Given the description of an element on the screen output the (x, y) to click on. 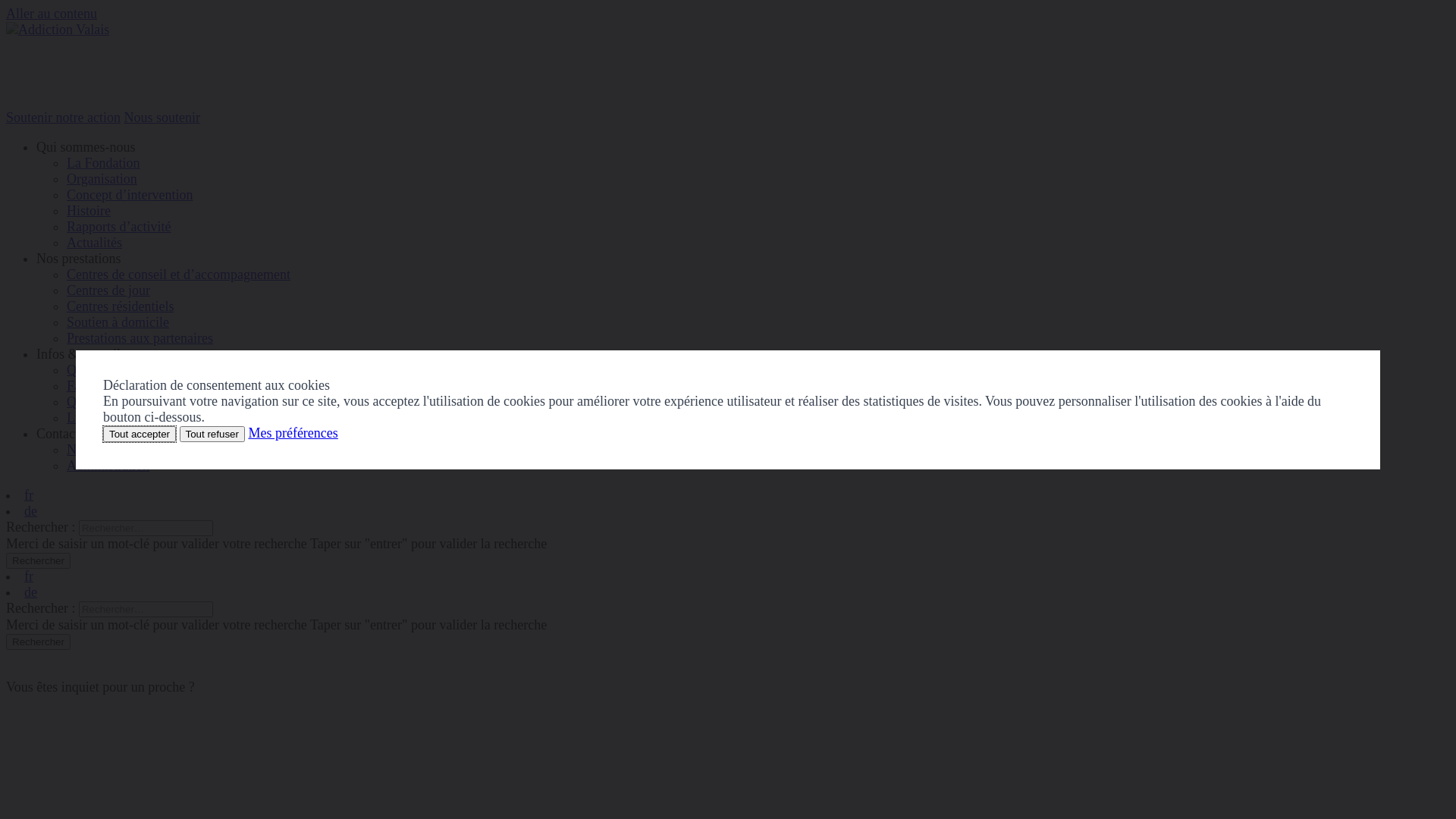
Tout accepter Element type: text (139, 434)
Liens utiles Element type: text (98, 417)
fr Element type: text (28, 575)
Nos prestations Element type: text (78, 258)
Rechercher Element type: text (38, 560)
Infos & conseils Element type: text (80, 353)
fr Element type: text (28, 494)
de Element type: text (30, 591)
Organisation Element type: text (101, 178)
La Fondation Element type: text (103, 162)
Nous soutenir Element type: text (161, 117)
Prestations aux partenaires Element type: text (139, 337)
Soutenir notre action Element type: text (63, 117)
Contact Element type: text (57, 433)
Faits et chiffres Element type: text (108, 385)
Aller au contenu Element type: text (51, 13)
Qui sommes-nous Element type: text (85, 146)
Centres de jour Element type: text (108, 290)
Close Element type: hover (1366, 333)
de Element type: text (30, 510)
Rechercher Element type: text (38, 641)
Administration Element type: text (107, 465)
Tout refuser Element type: text (211, 434)
Histoire Element type: text (88, 210)
